Given the description of an element on the screen output the (x, y) to click on. 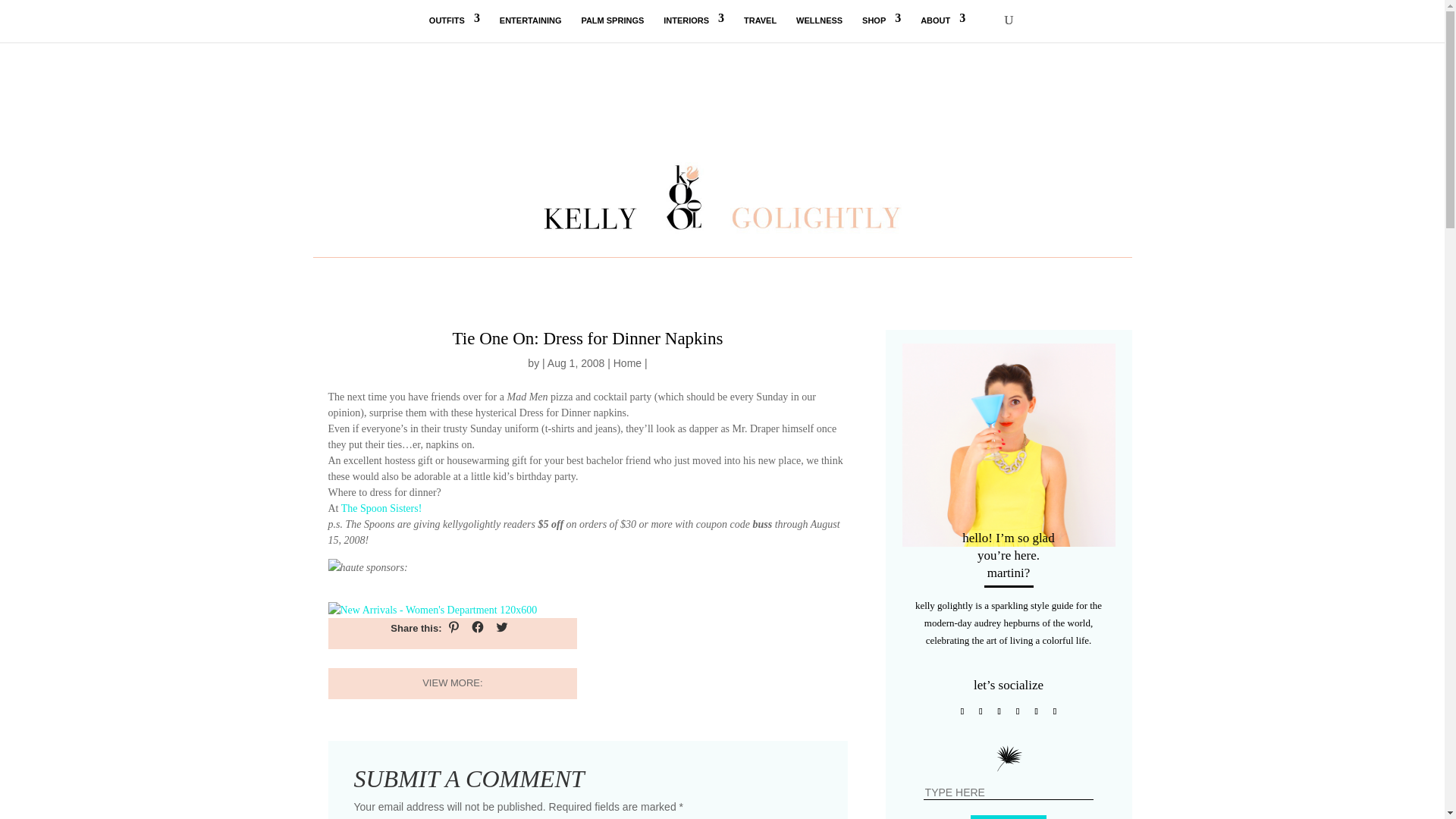
Search for: (1008, 792)
Click to share on Facebook (477, 627)
The Spoon Sisters! (381, 508)
SHOP (881, 28)
WELLNESS (819, 28)
ENTERTAINING (530, 28)
Click to share on Pinterest (453, 627)
Home (627, 363)
PALM SPRINGS (611, 28)
Click to share on Twitter (501, 627)
TRAVEL (760, 28)
OUTFITS (454, 28)
INTERIORS (693, 28)
ABOUT (942, 28)
